Given the description of an element on the screen output the (x, y) to click on. 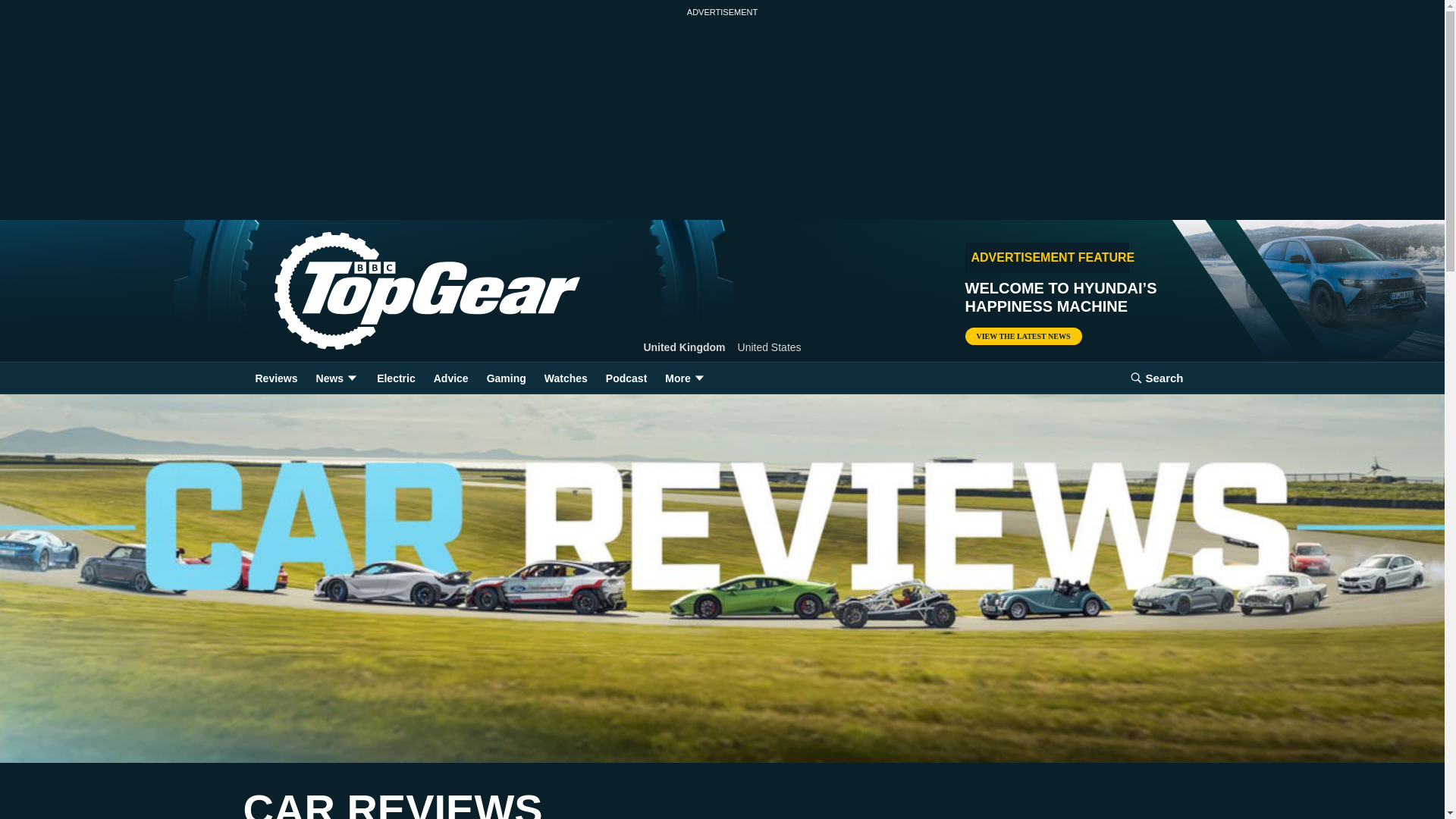
Gaming (506, 377)
Reviews (275, 377)
Search (1156, 377)
Search (1156, 377)
Electric (396, 377)
Watches (566, 377)
United States (770, 347)
More (685, 377)
News (337, 377)
Podcast (625, 377)
Advice (451, 377)
United Kingdom (684, 347)
Home (401, 290)
VIEW THE LATEST NEWS (1022, 335)
